Given the description of an element on the screen output the (x, y) to click on. 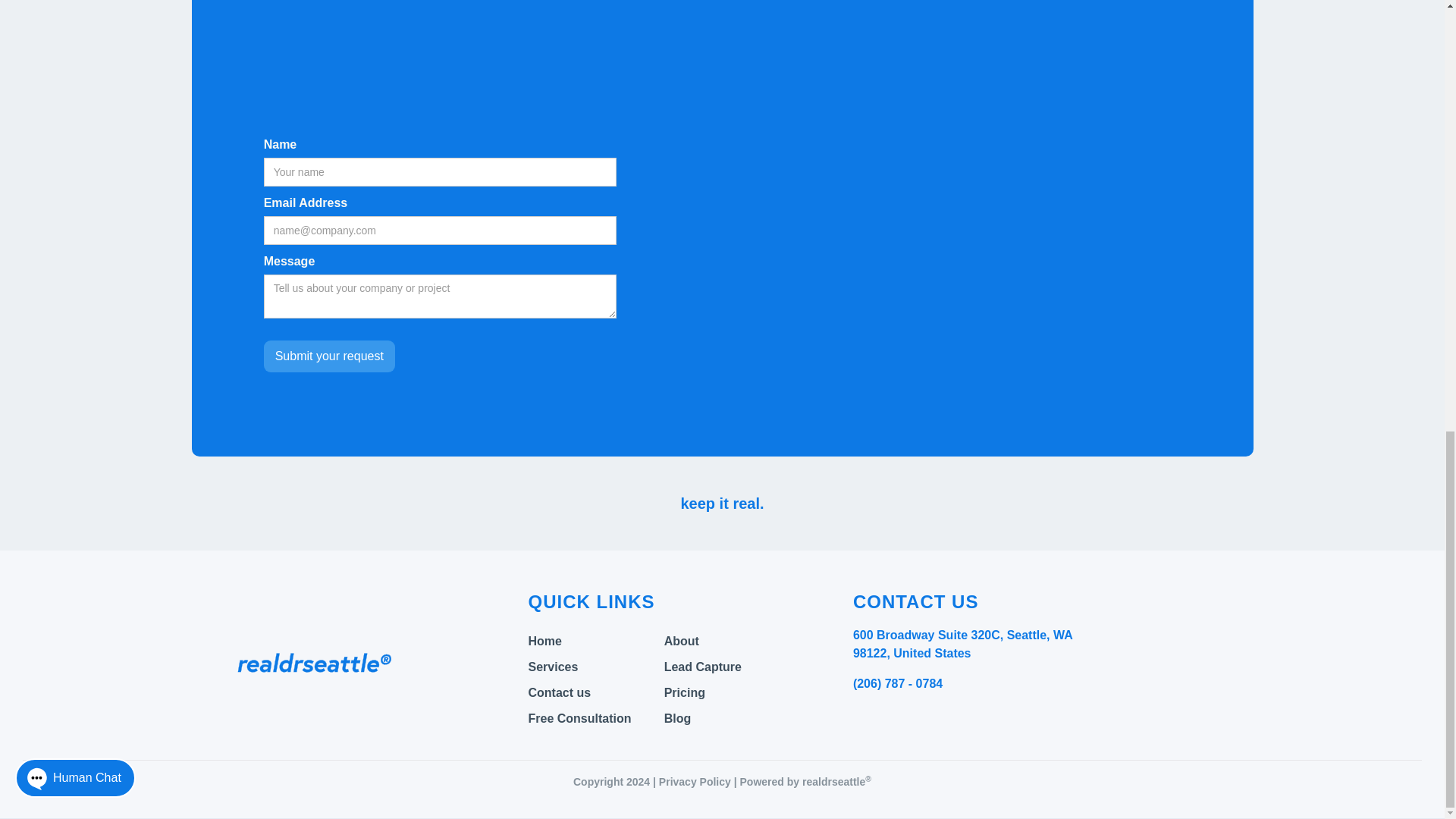
Blog (731, 718)
Contact us (595, 693)
Home (595, 641)
Pricing (731, 693)
Free Consultation (595, 718)
Submit your request (328, 356)
Services (595, 666)
About (731, 641)
Submit your request (328, 356)
Lead Capture (731, 666)
600 Broadway Suite 320C, Seattle, WA 98122, United States (962, 644)
Privacy Policy (694, 781)
